Given the description of an element on the screen output the (x, y) to click on. 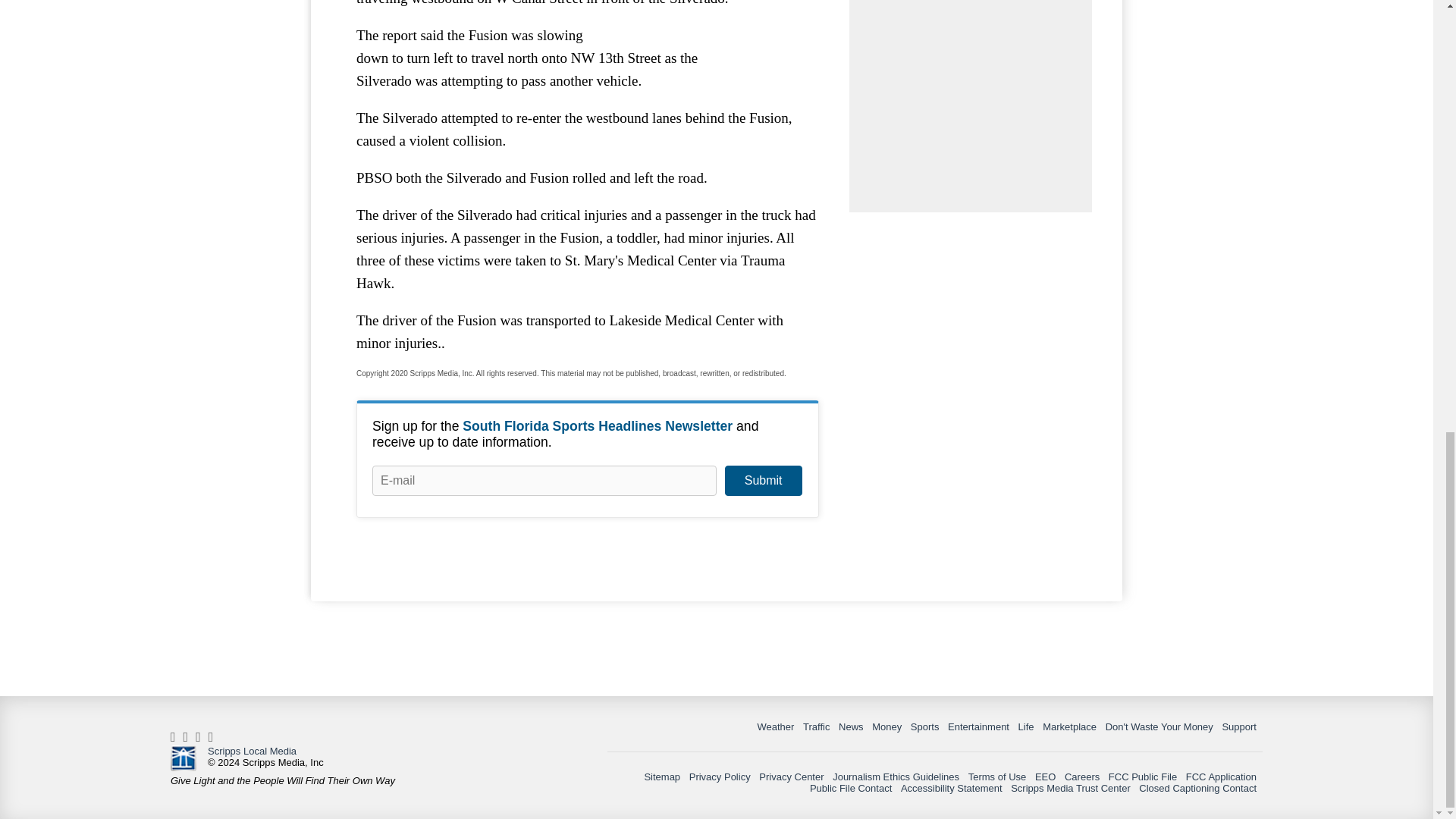
Submit (763, 481)
